Given the description of an element on the screen output the (x, y) to click on. 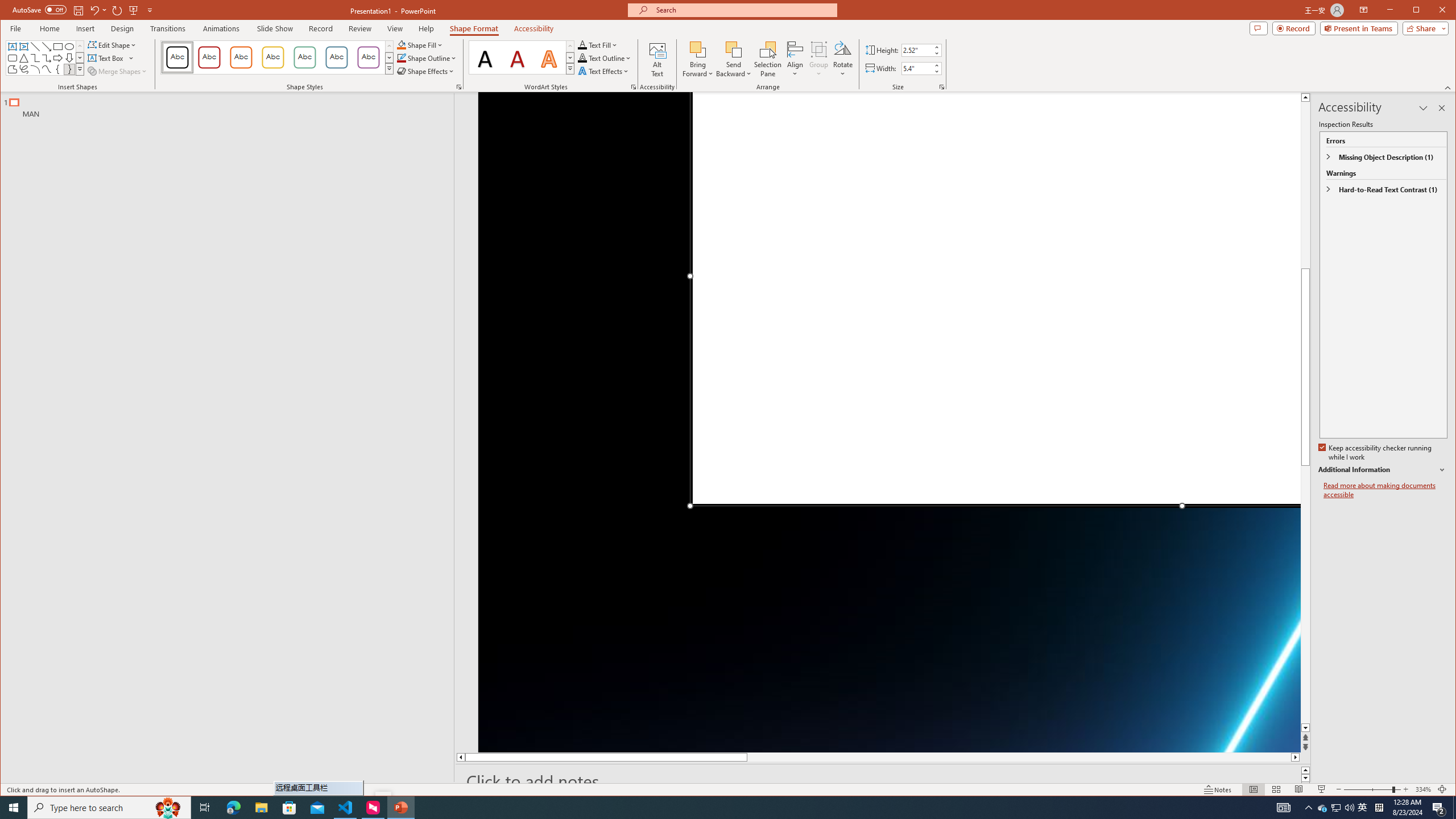
Colored Outline - Dark Red, Accent 1 (209, 57)
Fill: Black, Text color 1; Shadow (486, 57)
